Given the description of an element on the screen output the (x, y) to click on. 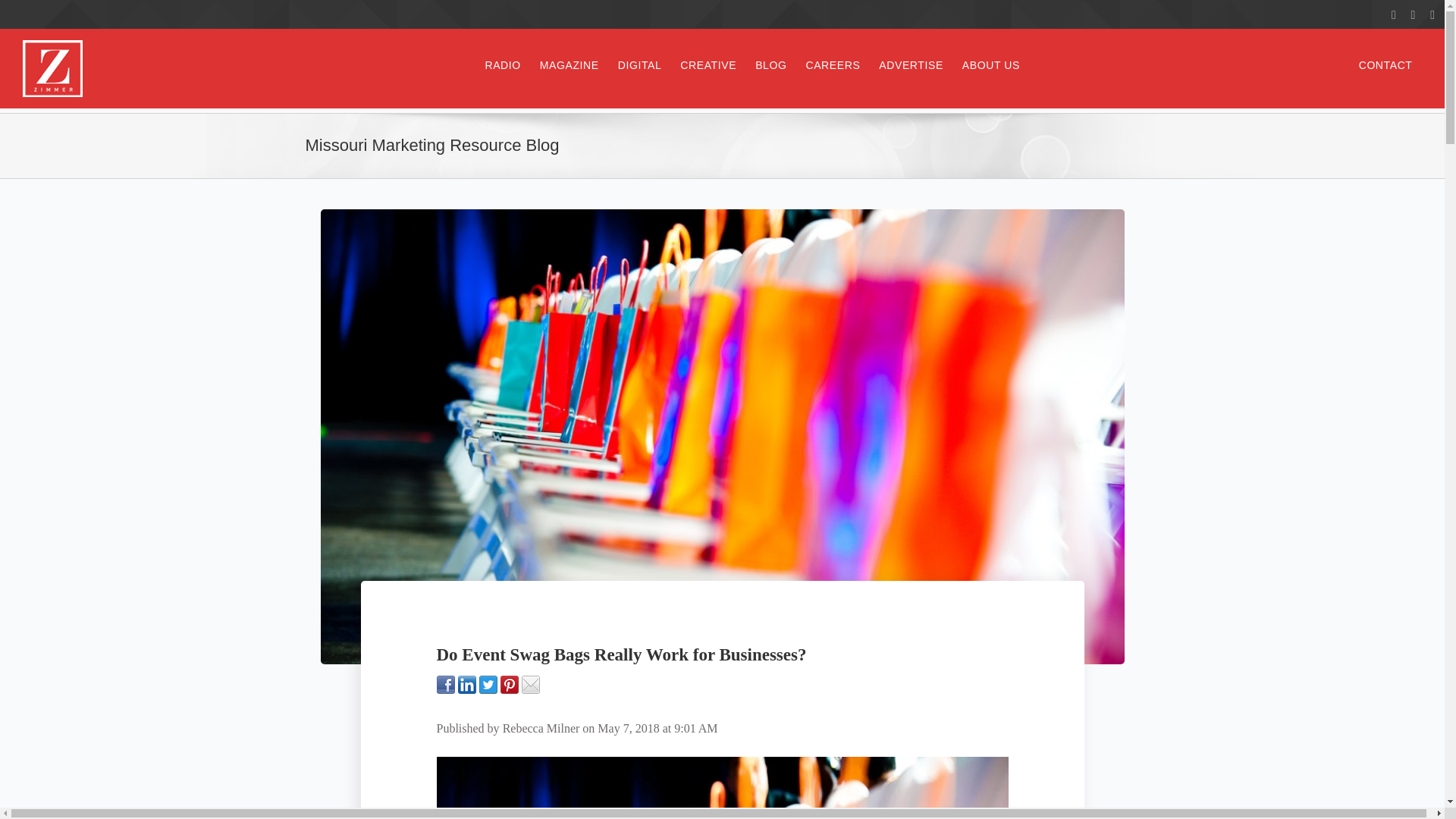
CREATIVE (708, 64)
MAGAZINE (568, 64)
vast.png (52, 68)
